Given the description of an element on the screen output the (x, y) to click on. 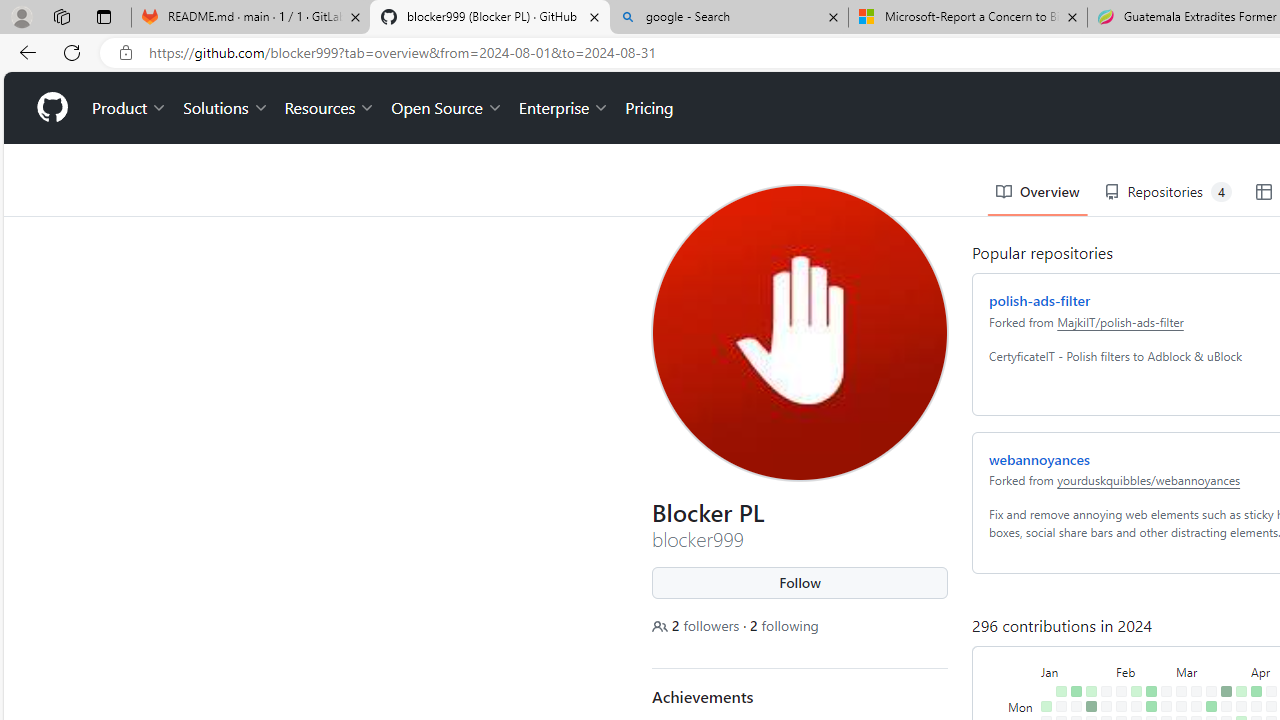
No contributions on January 8th. (1057, 634)
Solutions (221, 35)
No contributions on February 16th. (1131, 694)
1 contribution on February 9th. (1117, 694)
No contributions on April 3rd. (1236, 664)
No contributions on February 25th. (1162, 619)
Achievement: Arctic Code Vault Contributor (743, 677)
3 contributions on January 7th. (1057, 619)
Product (125, 35)
No contributions on February 14th. (1131, 664)
No contributions on January 19th. (1072, 694)
No contributions on February 26th. (1162, 634)
No contributions on February 29th. (1162, 678)
